Given the description of an element on the screen output the (x, y) to click on. 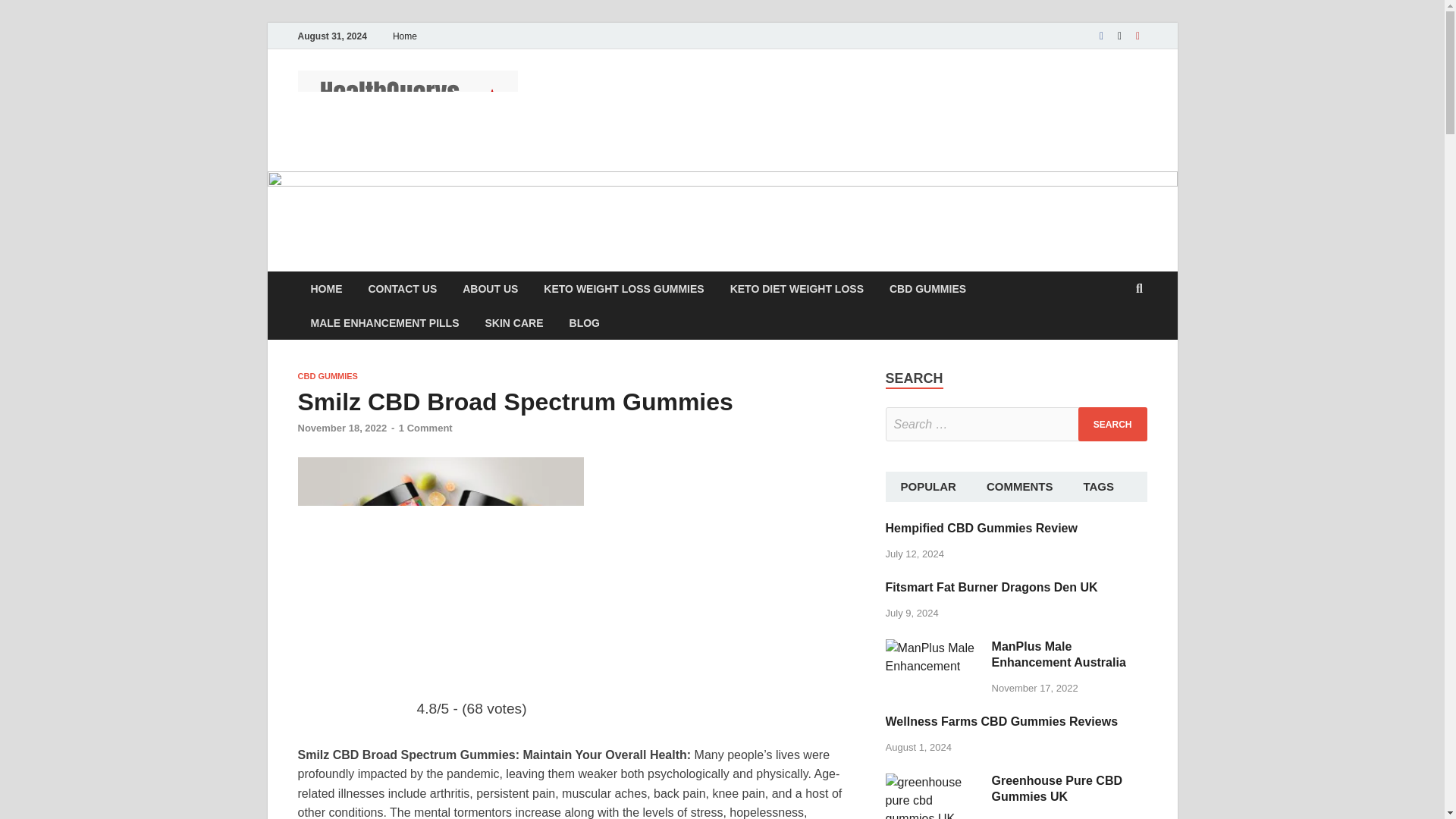
HOME (326, 288)
1 Comment (425, 428)
CONTACT US (402, 288)
KETO WEIGHT LOSS GUMMIES (623, 288)
SKIN CARE (513, 322)
ABOUT US (490, 288)
November 18, 2022 (342, 428)
Search (1112, 424)
MALE ENHANCEMENT PILLS (384, 322)
CBD GUMMIES (927, 288)
